Given the description of an element on the screen output the (x, y) to click on. 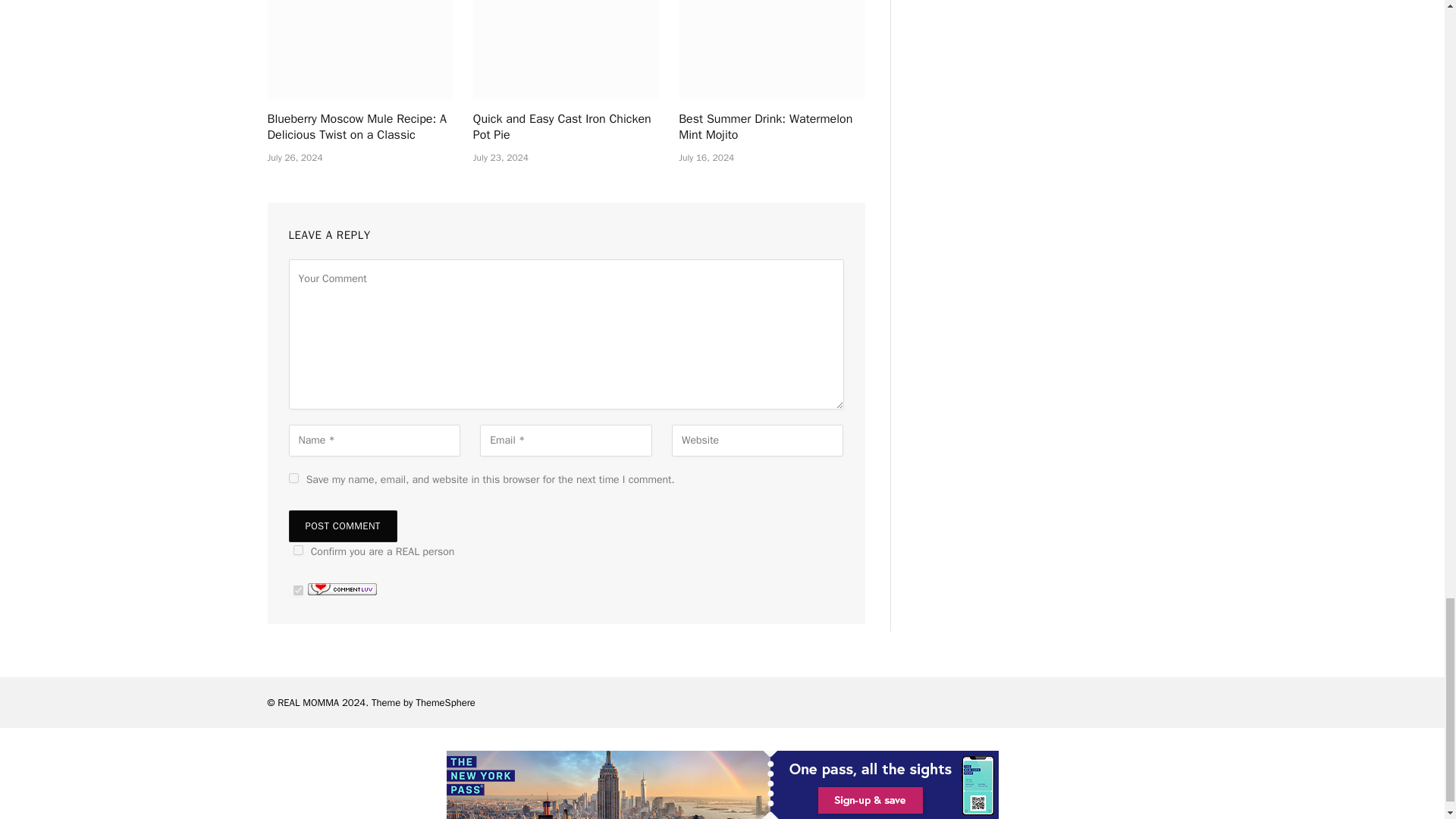
on (297, 590)
Post Comment (342, 526)
yes (293, 478)
on (297, 550)
